Given the description of an element on the screen output the (x, y) to click on. 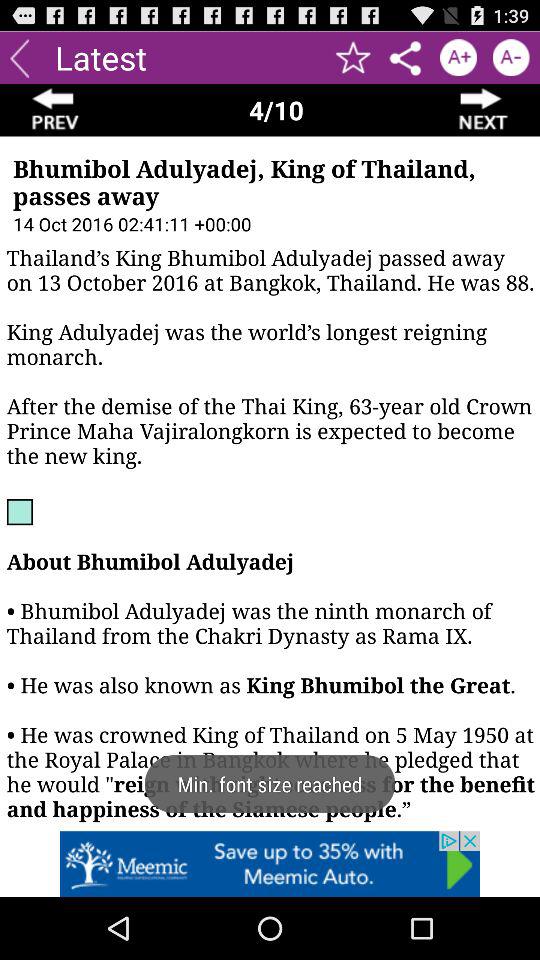
share button (405, 57)
